Given the description of an element on the screen output the (x, y) to click on. 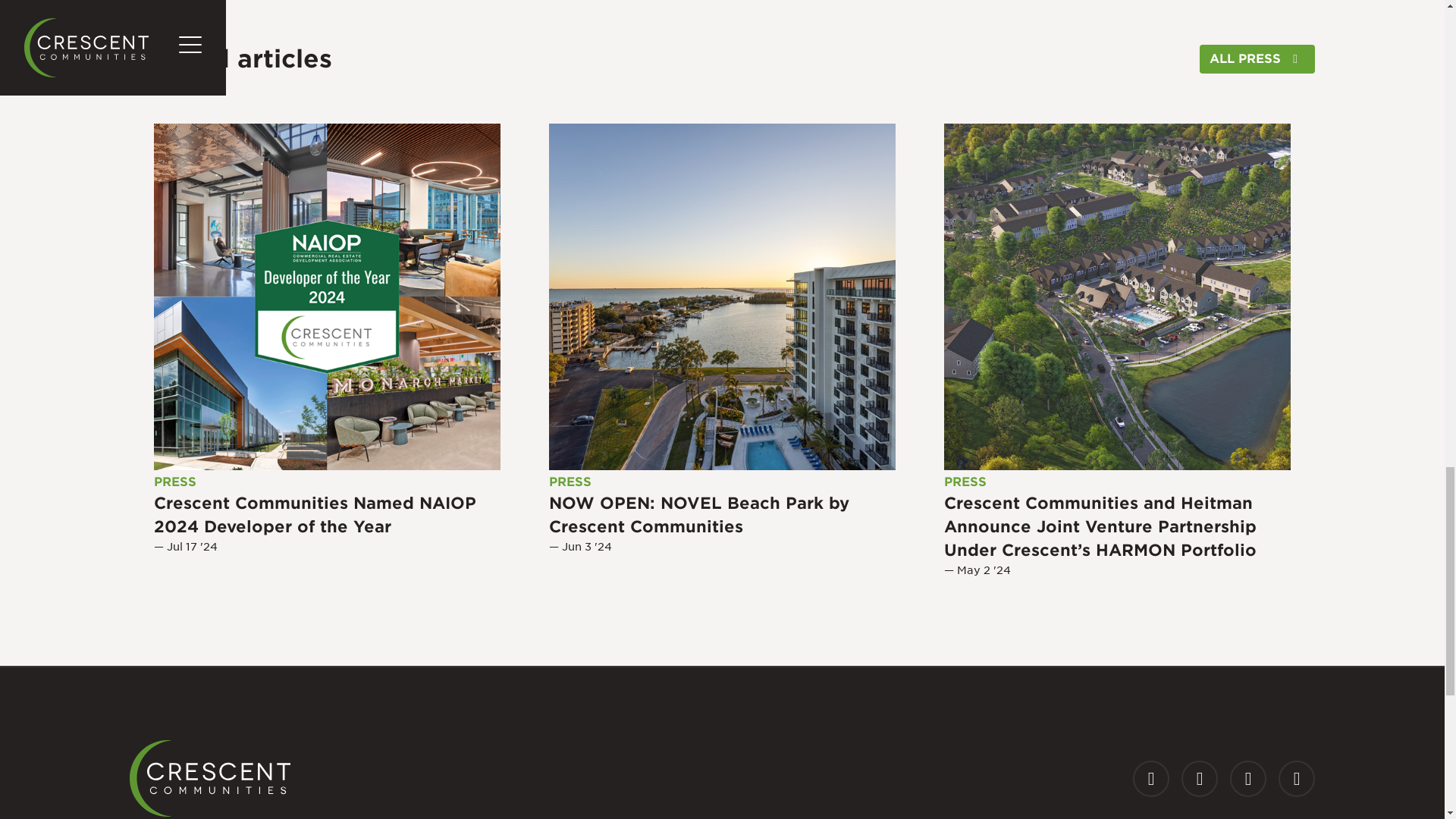
NOW OPEN: NOVEL Beach Park by Crescent Communities (721, 296)
Crescent Communities Named NAIOP 2024 Developer of the Year  (327, 296)
ALL PRESS (1256, 59)
Crescent Communities (209, 778)
